Given the description of an element on the screen output the (x, y) to click on. 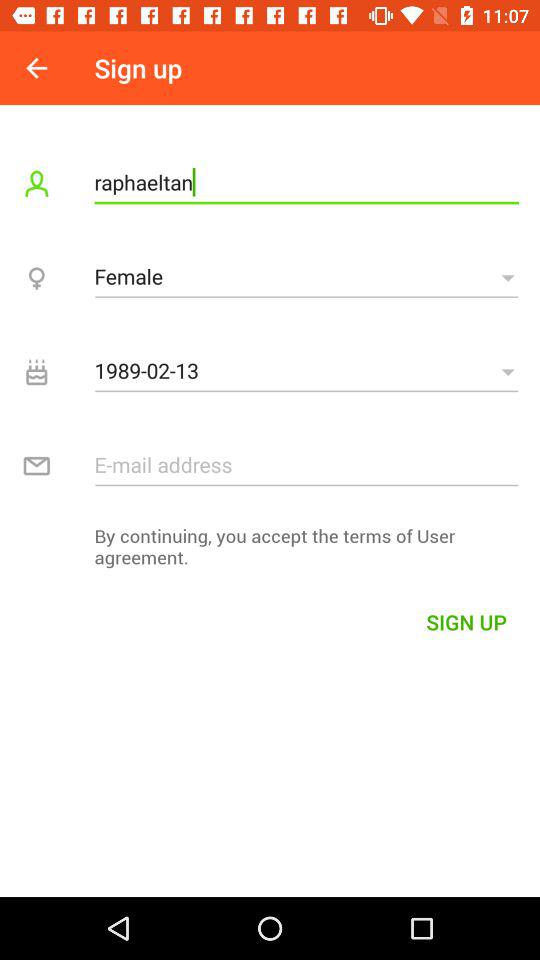
turn on the item to the left of sign up (36, 68)
